Given the description of an element on the screen output the (x, y) to click on. 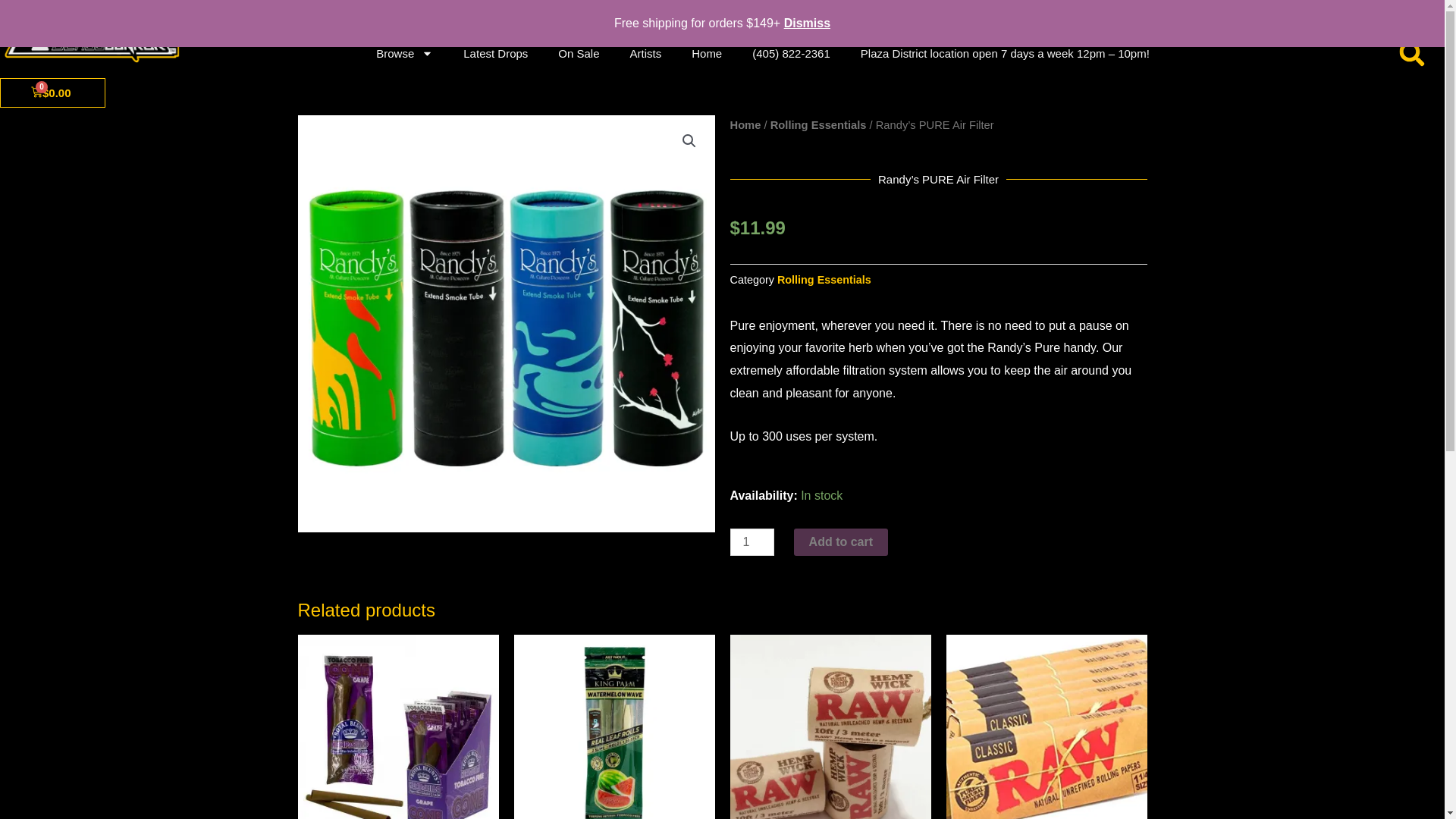
Browse (404, 53)
1 (751, 542)
On Sale (578, 53)
Latest Drops (495, 53)
